Given the description of an element on the screen output the (x, y) to click on. 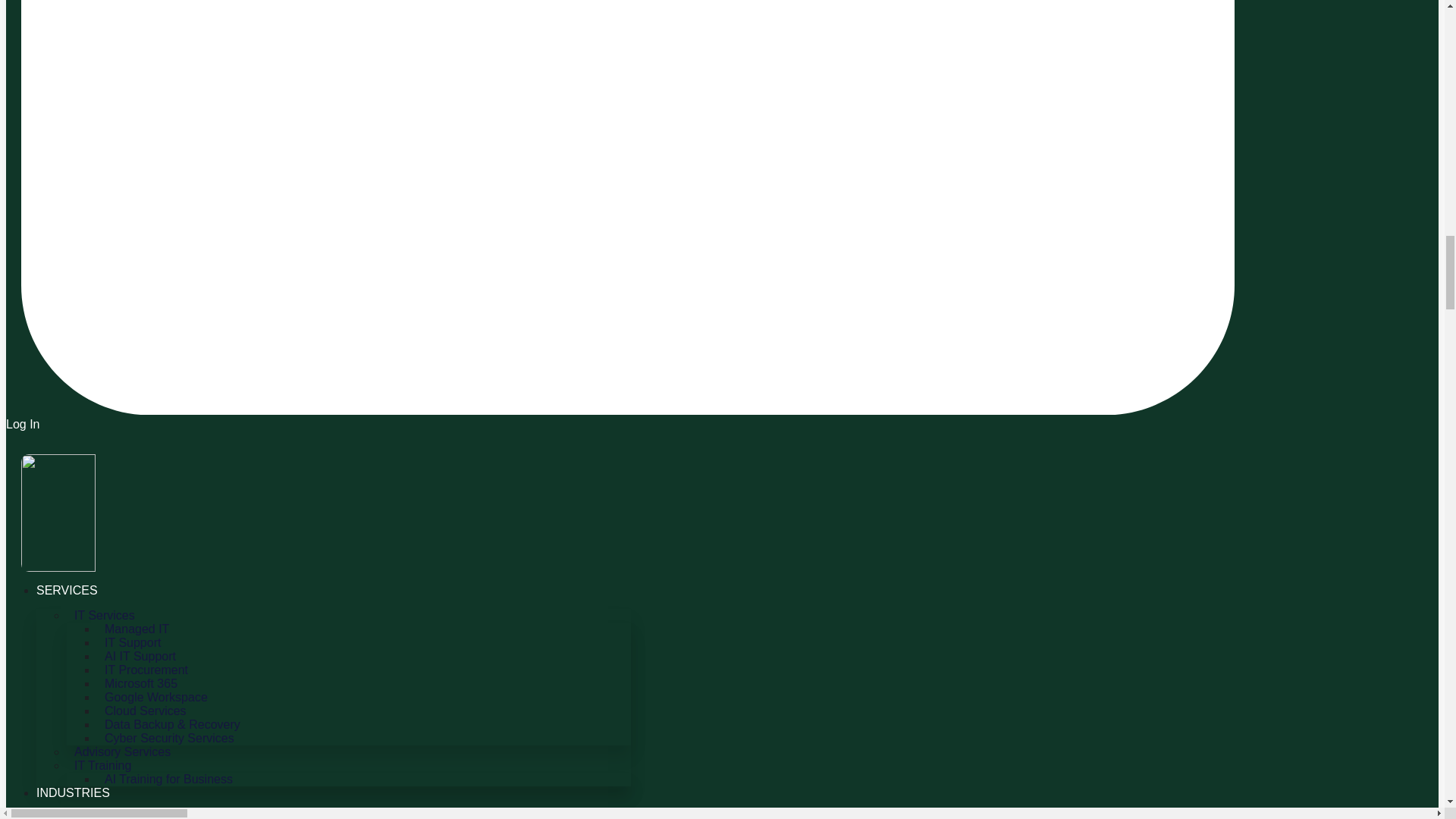
AI Training for Business (168, 778)
IT Training (102, 765)
Cloud Services (145, 710)
Log In (619, 417)
Advisory Services (121, 751)
INDUSTRIES (73, 792)
Managed IT (136, 628)
Google Workspace (156, 697)
AI IT Support (140, 656)
Microsoft 365 (140, 683)
